Given the description of an element on the screen output the (x, y) to click on. 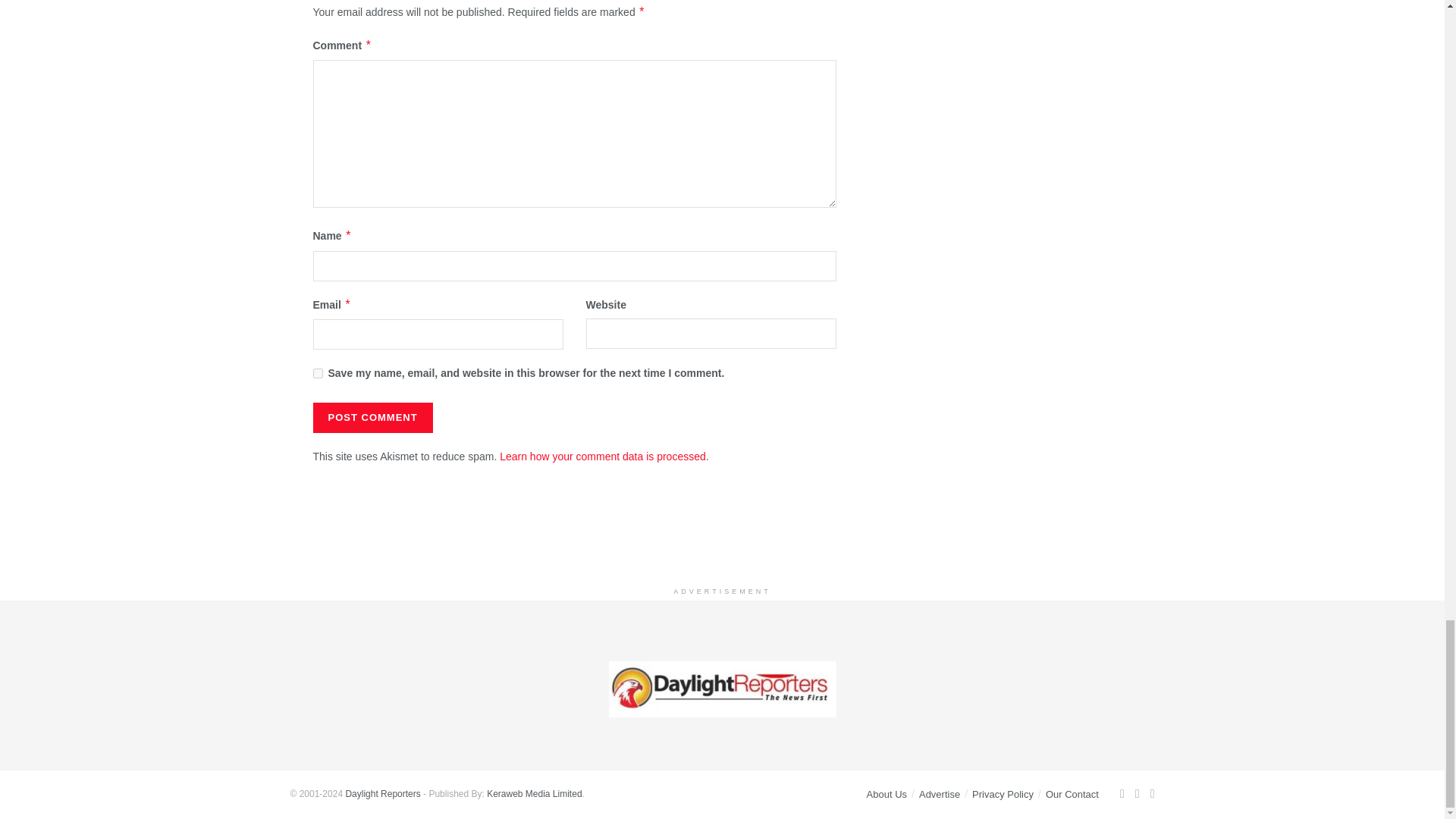
yes (317, 373)
Post Comment (372, 417)
Advertisement (722, 540)
